Given the description of an element on the screen output the (x, y) to click on. 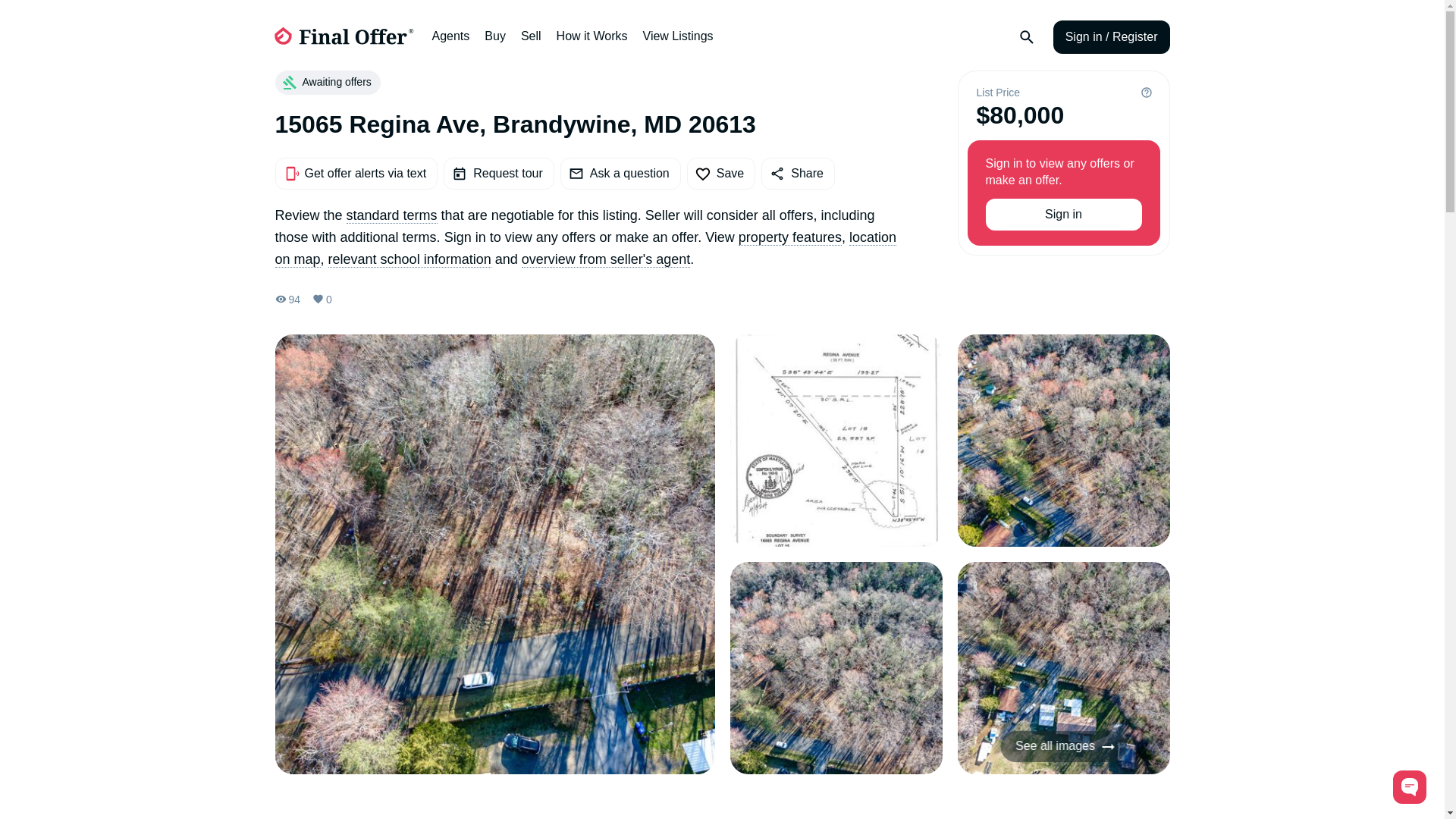
Share (797, 173)
Save (721, 173)
location on map (585, 248)
standard terms (392, 215)
Ask a question (620, 173)
relevant school information (410, 259)
Toggle tooltip (1146, 92)
property features (789, 237)
overview from seller's agent (605, 259)
Final Offer Concierge (1409, 786)
